Given the description of an element on the screen output the (x, y) to click on. 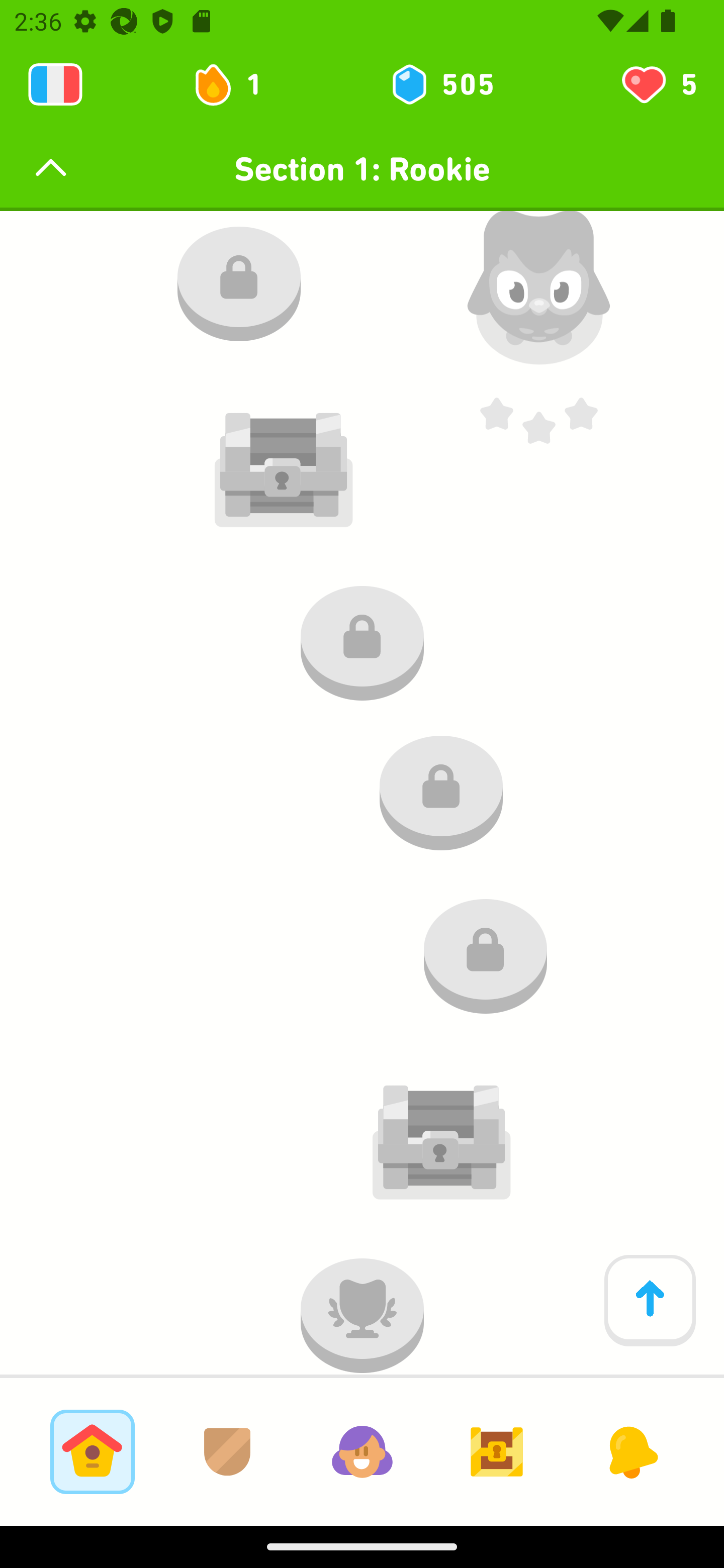
Learning 2131888976 (55, 84)
1 day streak 1 (236, 84)
505 (441, 84)
You have 5 hearts left 5 (657, 84)
Section 1: Rookie (362, 169)
Learn Tab (91, 1451)
Leagues Tab (227, 1451)
Profile Tab (361, 1451)
Goals Tab (496, 1451)
News Tab (631, 1451)
